Given the description of an element on the screen output the (x, y) to click on. 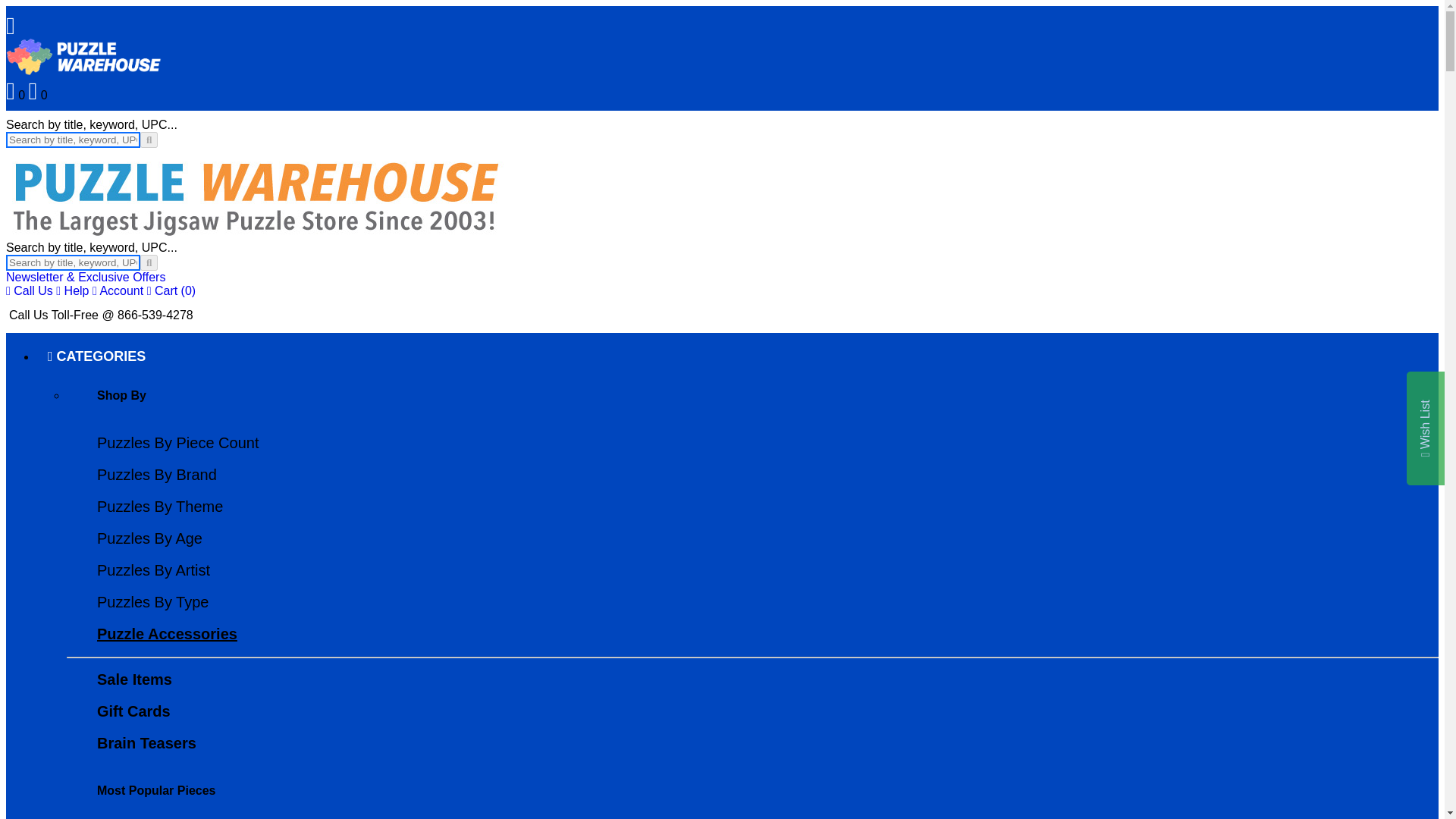
Puzzles By Piece Count (178, 442)
Puzzles By Brand (156, 474)
Puzzles By Artist (153, 569)
Sale Items (134, 678)
CATEGORIES (96, 356)
Call Us (28, 290)
Account (117, 290)
Gift Cards (133, 710)
Puzzle Accessories (167, 633)
Puzzles By Type (152, 601)
Puzzles By Theme (159, 506)
Help (72, 290)
Puzzles By Age (149, 538)
Brain Teasers (146, 742)
